Given the description of an element on the screen output the (x, y) to click on. 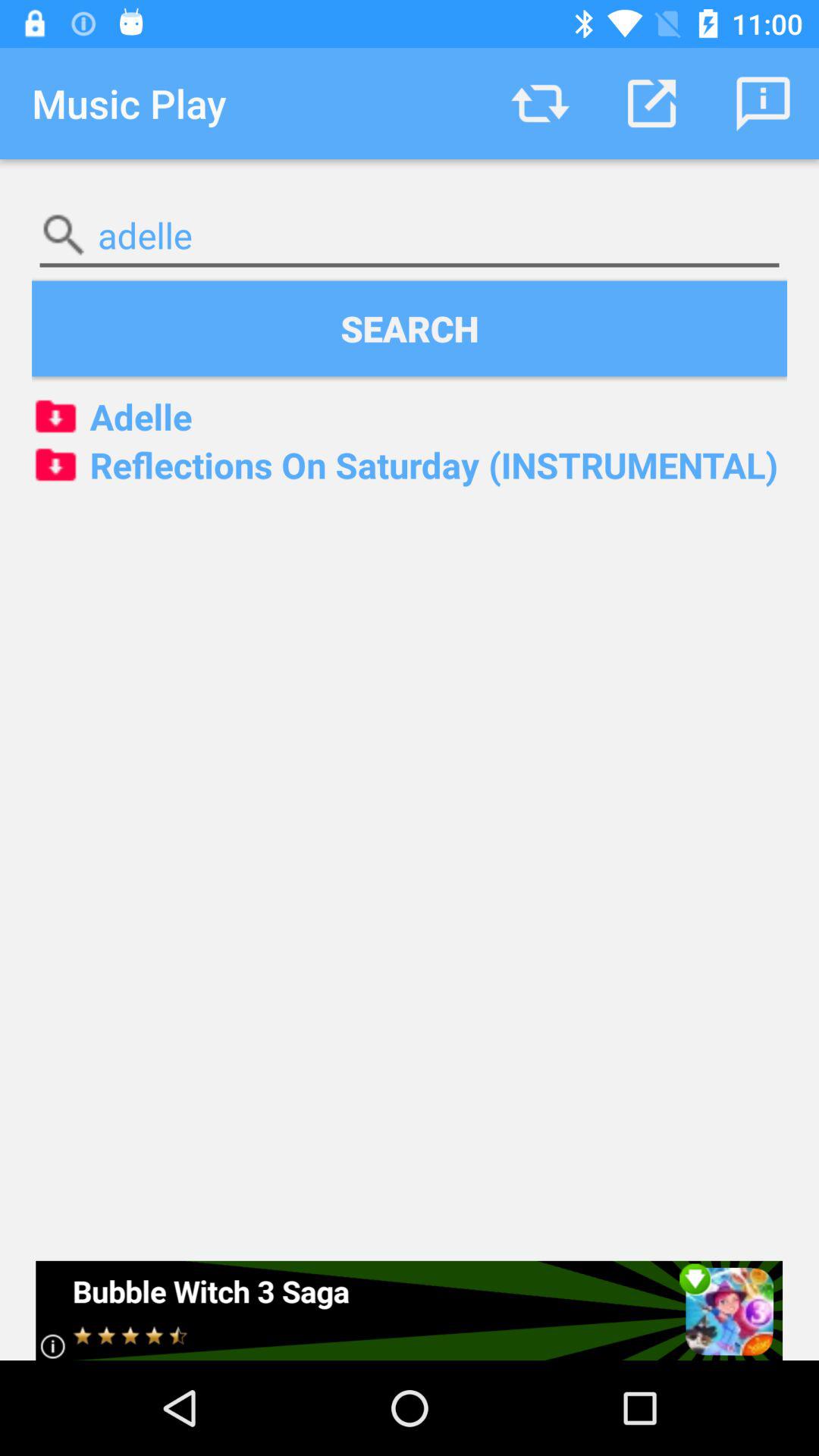
open icon below the reflections on saturday item (408, 1310)
